Given the description of an element on the screen output the (x, y) to click on. 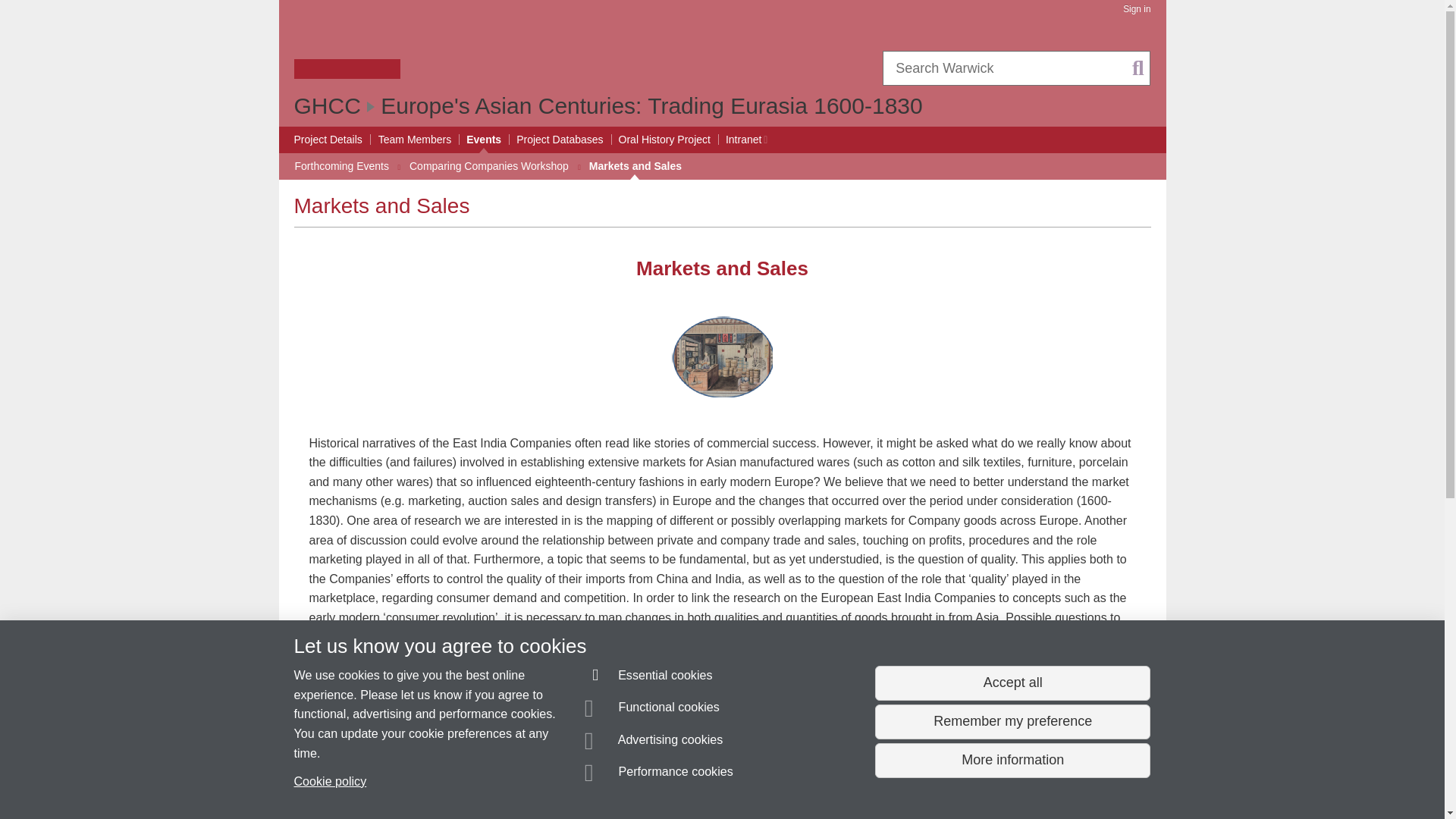
Project Databases (559, 139)
Project Details (328, 139)
GHCC (327, 105)
Events (482, 139)
Team Members (414, 139)
GHCC home page (327, 105)
University of Warwick homepage (346, 48)
Sign in (1136, 9)
